Given the description of an element on the screen output the (x, y) to click on. 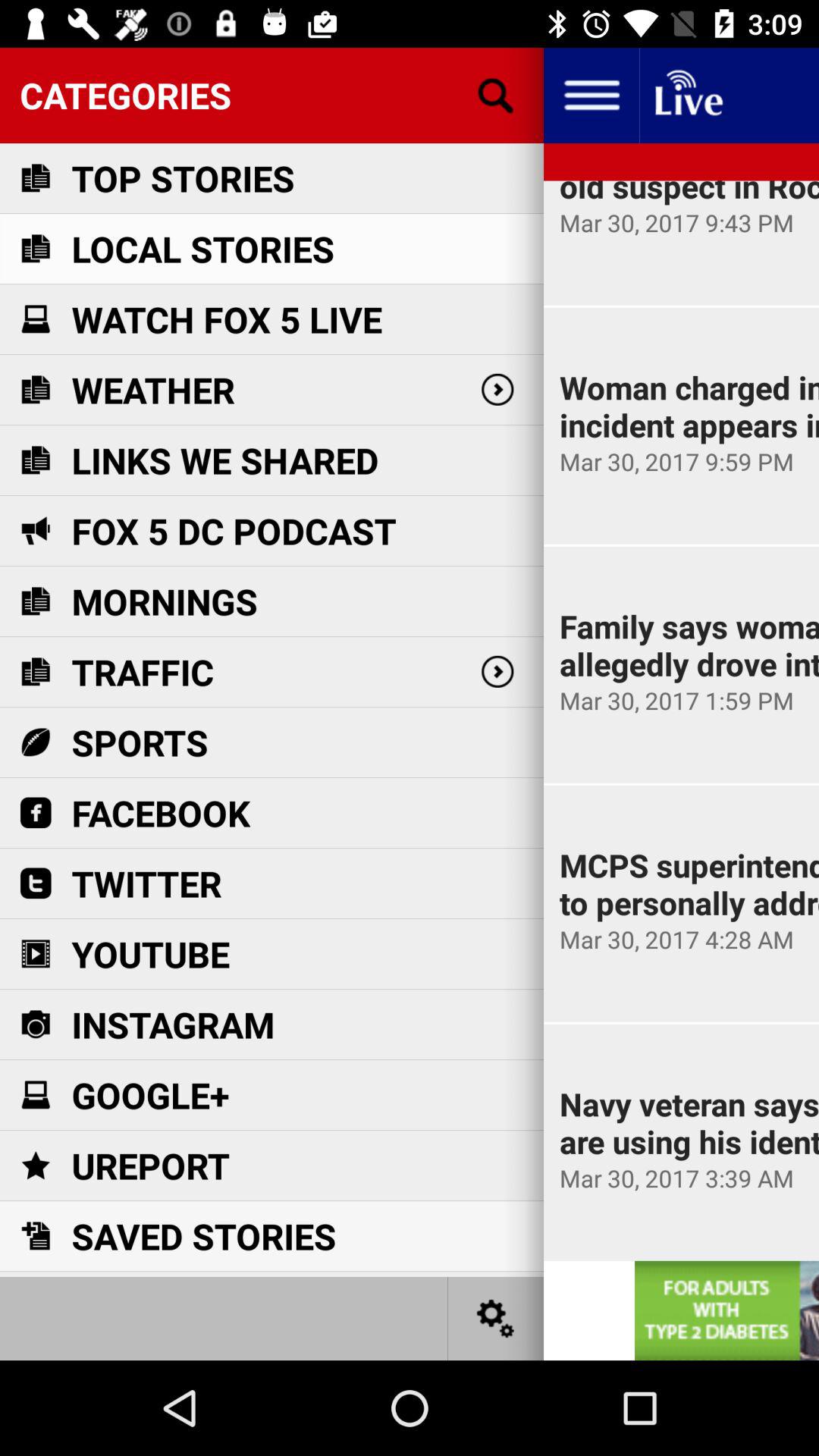
no idea (687, 95)
